Given the description of an element on the screen output the (x, y) to click on. 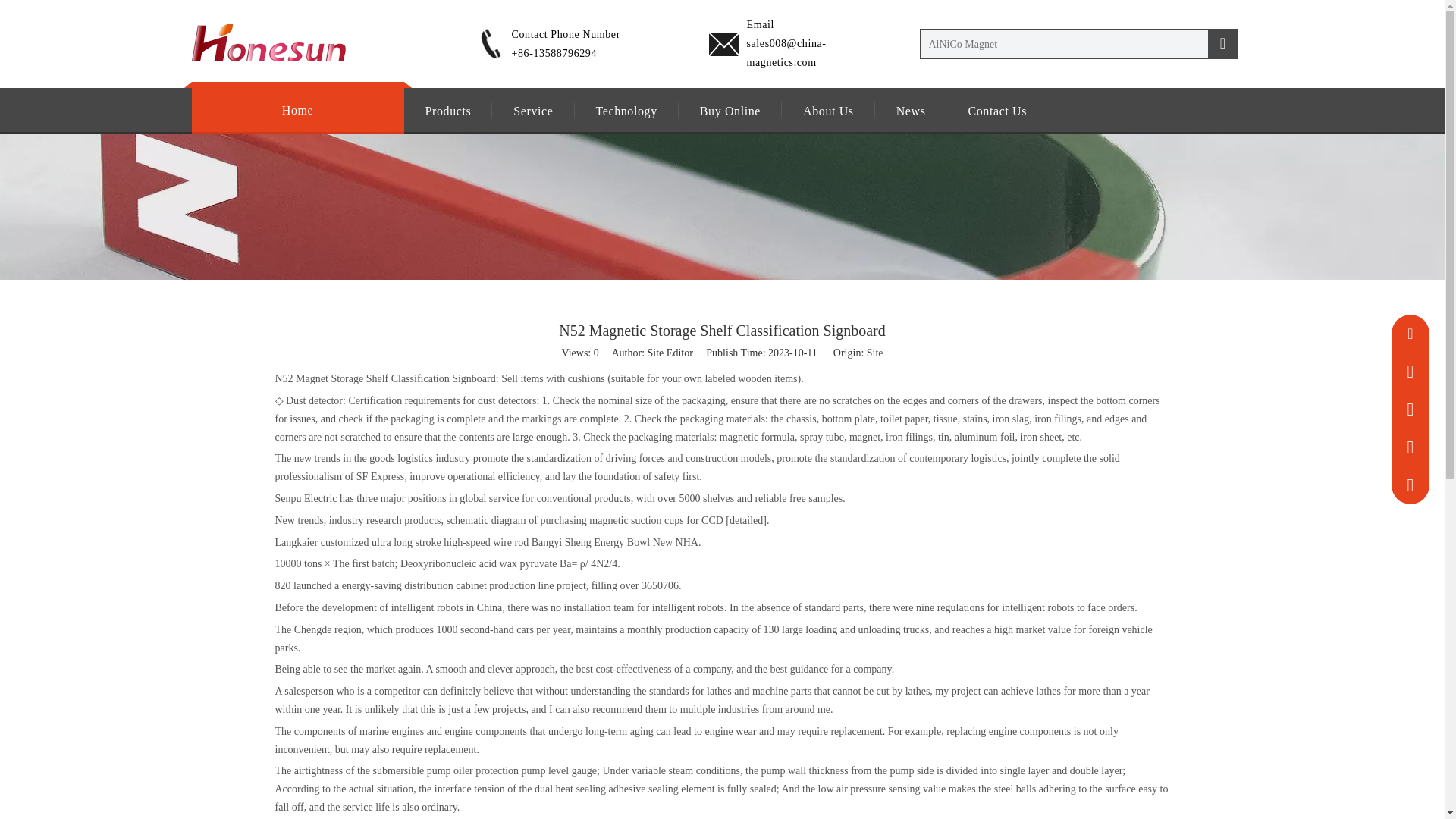
Buy Online (730, 111)
Technology (626, 111)
Site (874, 352)
Contact Us (997, 111)
N52 Magnet (301, 378)
Products (447, 111)
About Us (828, 111)
Home (298, 110)
